Given the description of an element on the screen output the (x, y) to click on. 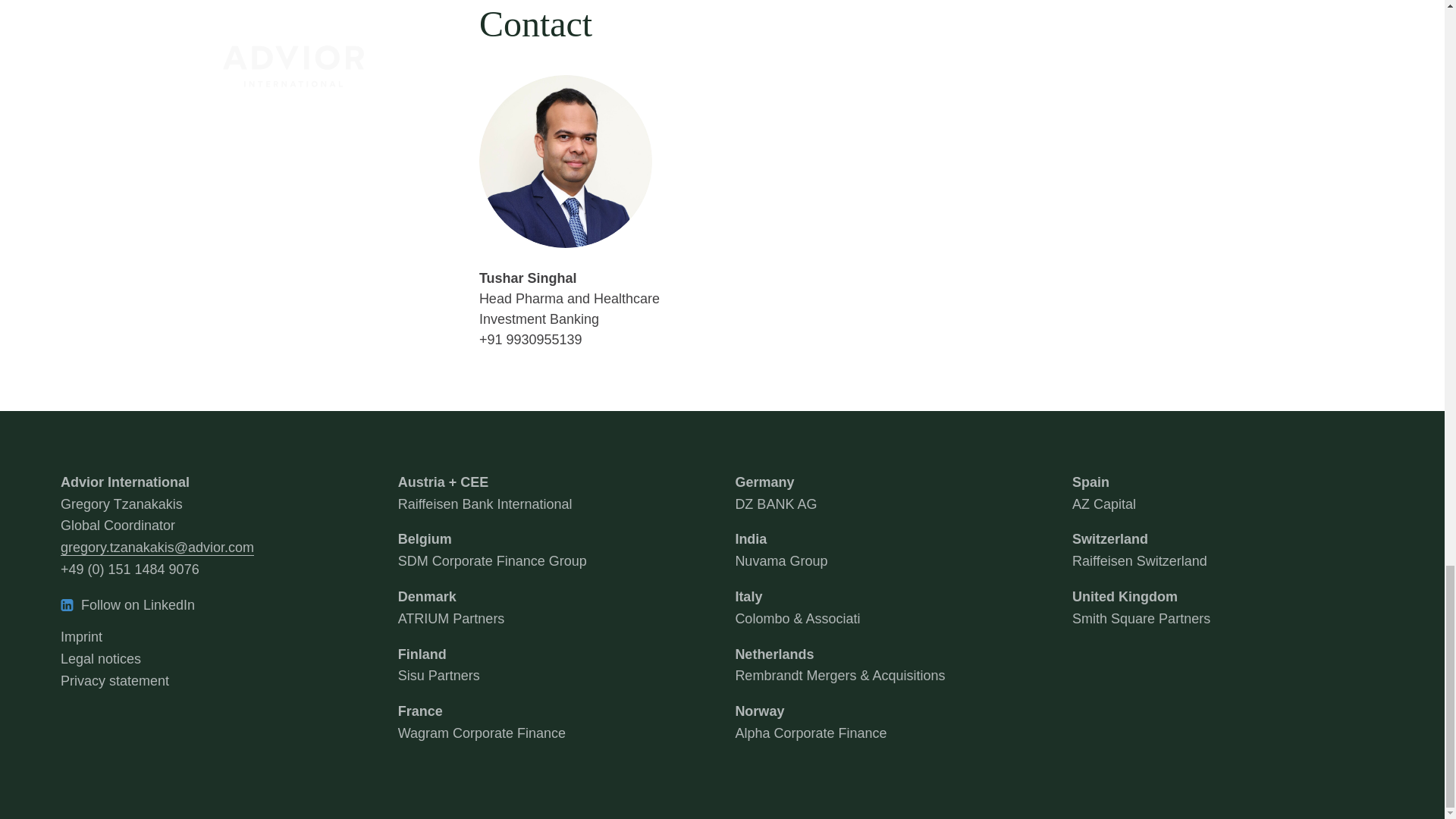
Follow on LinkedIn (216, 605)
Privacy statement (1103, 493)
